Given the description of an element on the screen output the (x, y) to click on. 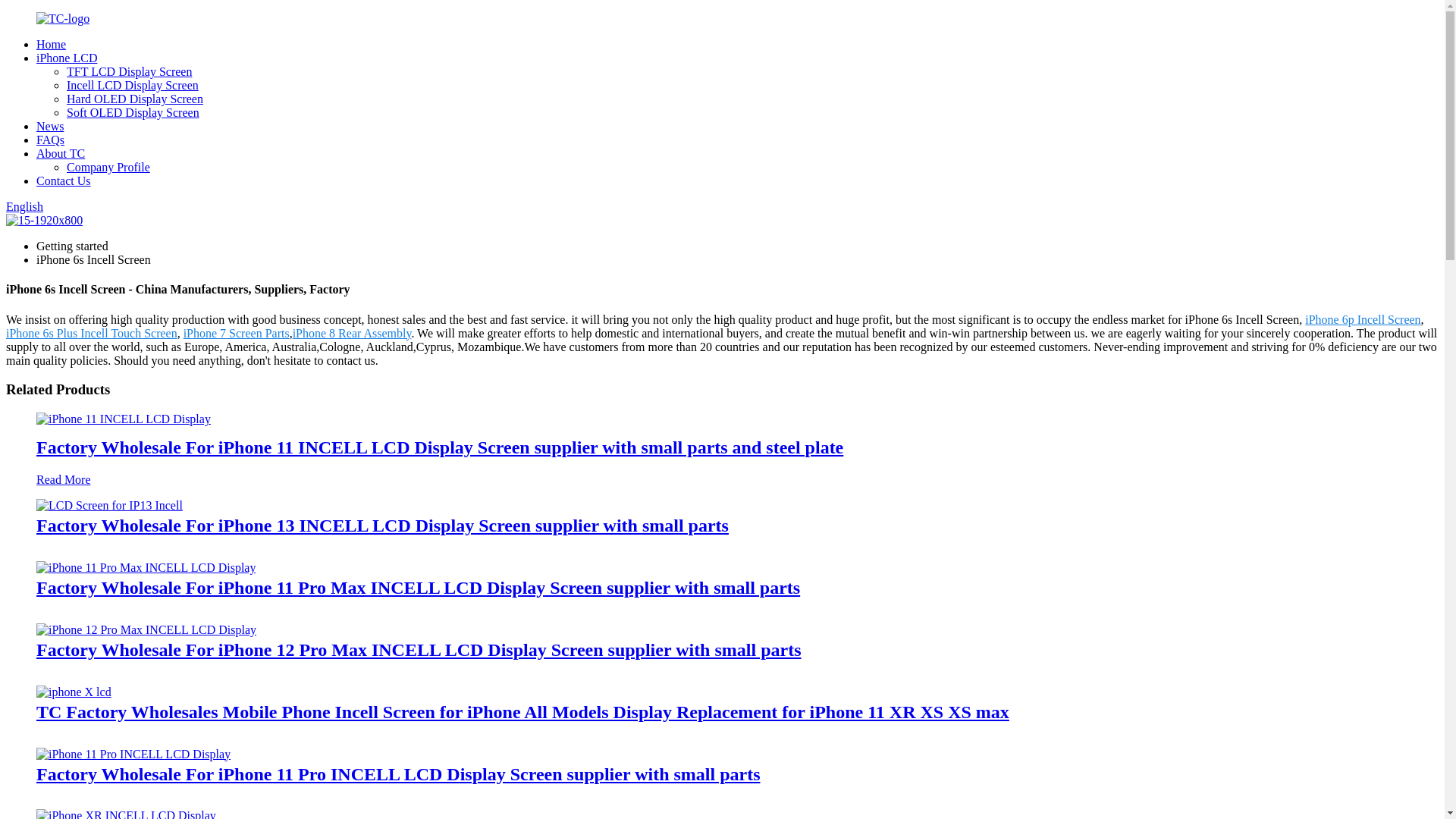
iPhone 7 Screen Parts (236, 332)
Getting started (71, 245)
